Given the description of an element on the screen output the (x, y) to click on. 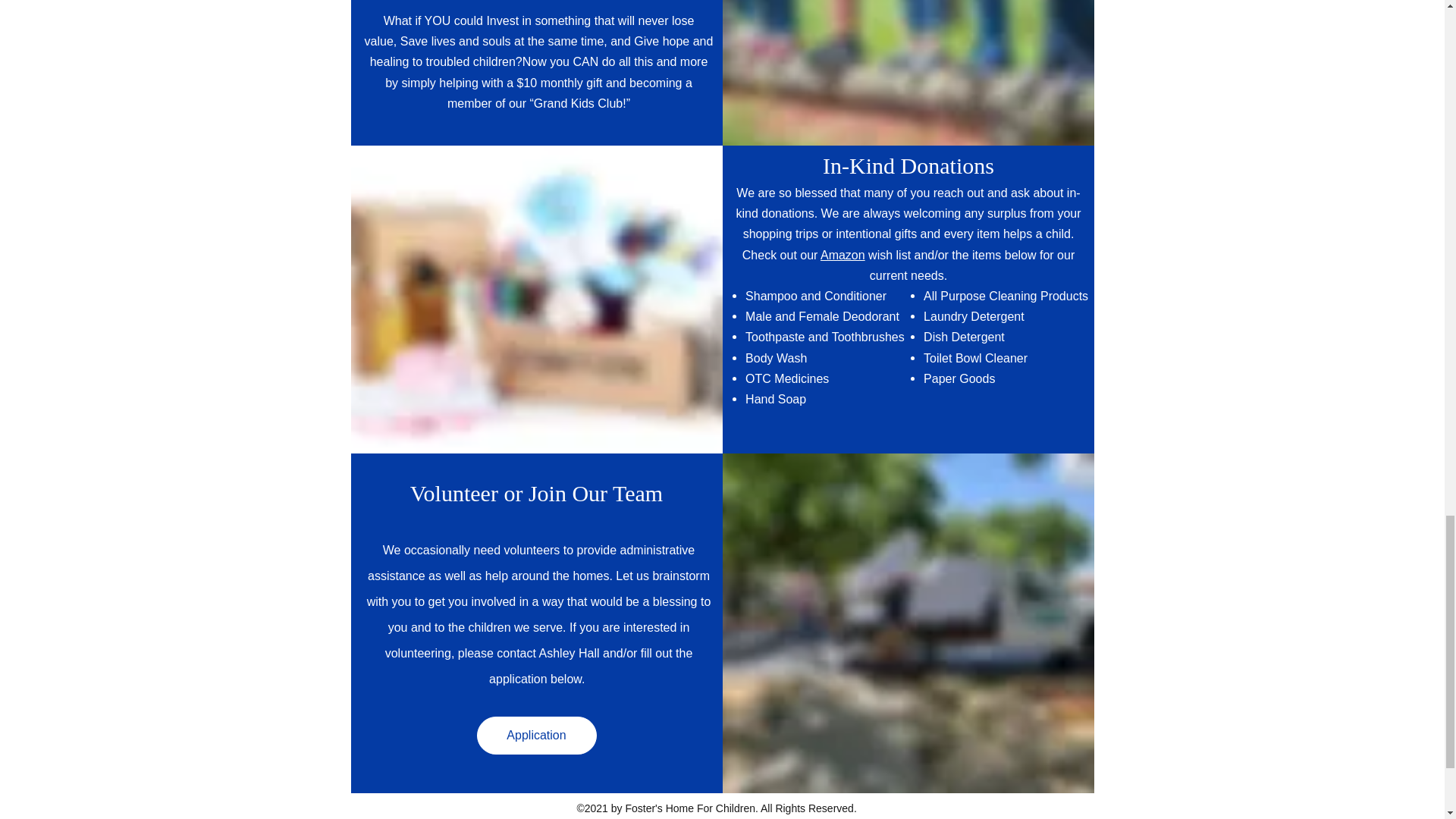
Application (535, 735)
Flight Reach Productions (778, 818)
Amazon (842, 254)
